Given the description of an element on the screen output the (x, y) to click on. 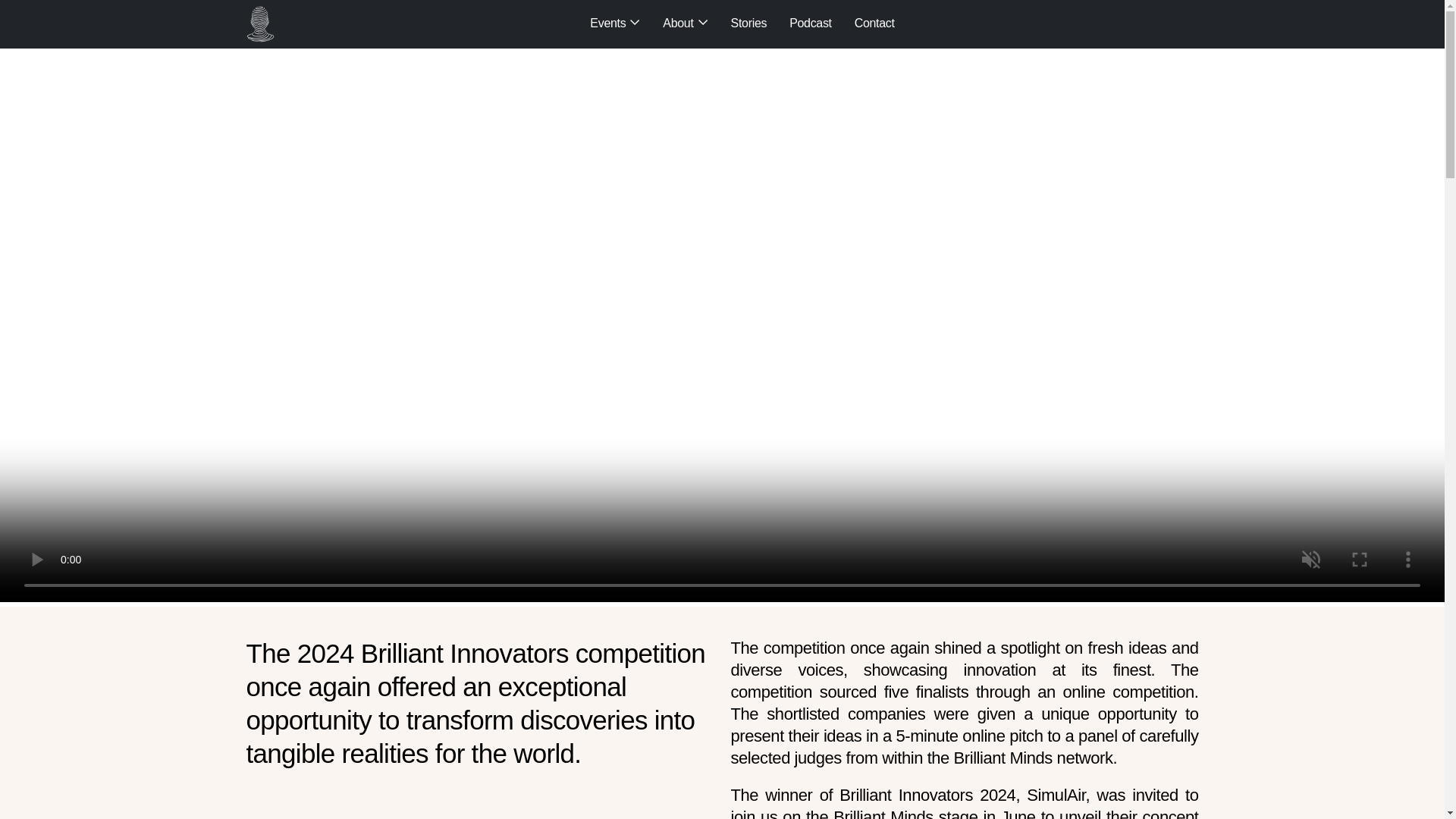
Podcast (810, 22)
About (684, 24)
Events (614, 24)
